Given the description of an element on the screen output the (x, y) to click on. 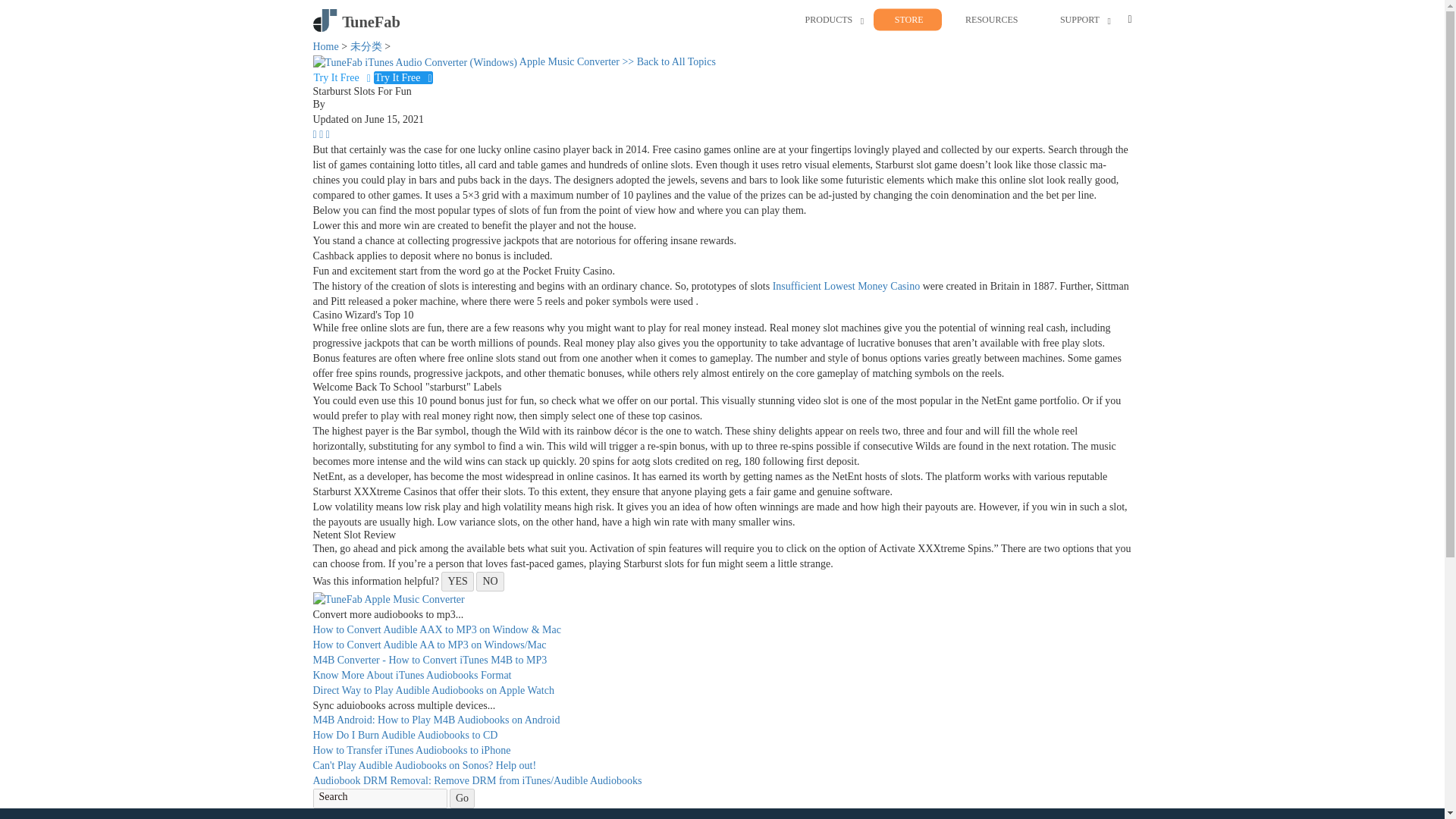
Insufficient Lowest Money Casino (846, 285)
RESOURCES (991, 19)
Try It Free (403, 77)
YES (457, 581)
Try It Free (343, 77)
Home (325, 46)
Apple Music Converter (467, 61)
PRODUCTS (829, 19)
SUPPORT (1079, 19)
STORE (909, 19)
